Given the description of an element on the screen output the (x, y) to click on. 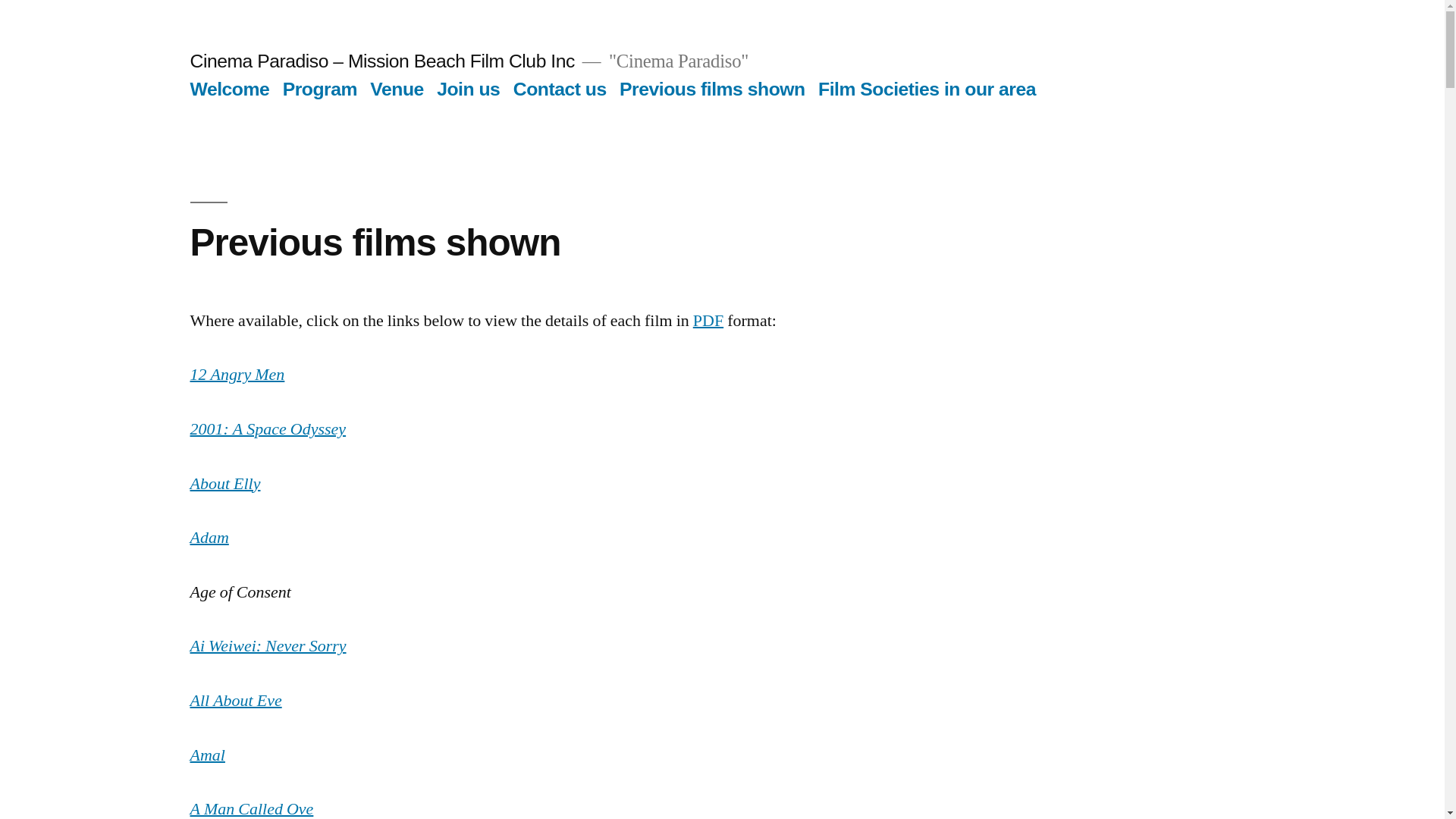
Ai Weiwei: Never Sorry Element type: text (267, 645)
Welcome Element type: text (229, 88)
About Elly Element type: text (224, 483)
12 Angry Men Element type: text (236, 374)
Contact us Element type: text (559, 88)
Adam Element type: text (208, 537)
Join us Element type: text (467, 88)
Venue Element type: text (396, 88)
All About Eve Element type: text (235, 700)
PDF Element type: text (708, 320)
2001: A Space Odyssey Element type: text (267, 428)
Previous films shown Element type: text (712, 88)
Program Element type: text (319, 88)
Amal Element type: text (206, 754)
Film Societies in our area Element type: text (926, 88)
